Given the description of an element on the screen output the (x, y) to click on. 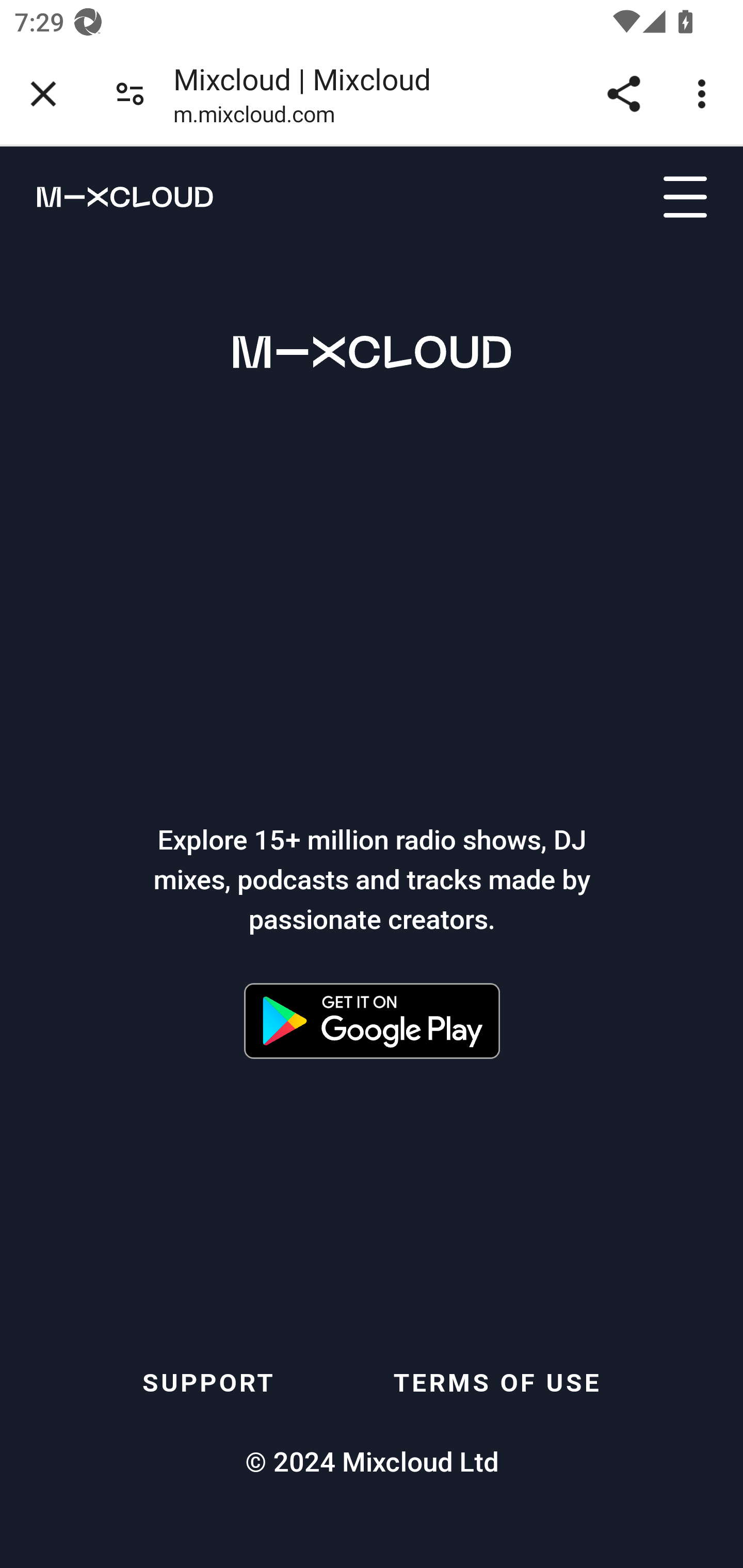
Close tab (43, 93)
Share (623, 93)
Customize and control Google Chrome (705, 93)
Connection is secure (129, 93)
m.mixcloud.com (254, 117)
m.mixcloud (107, 195)
details?id=com.mixcloud (372, 1020)
SUPPORT (208, 1382)
TERMS OF USE (498, 1382)
